Given the description of an element on the screen output the (x, y) to click on. 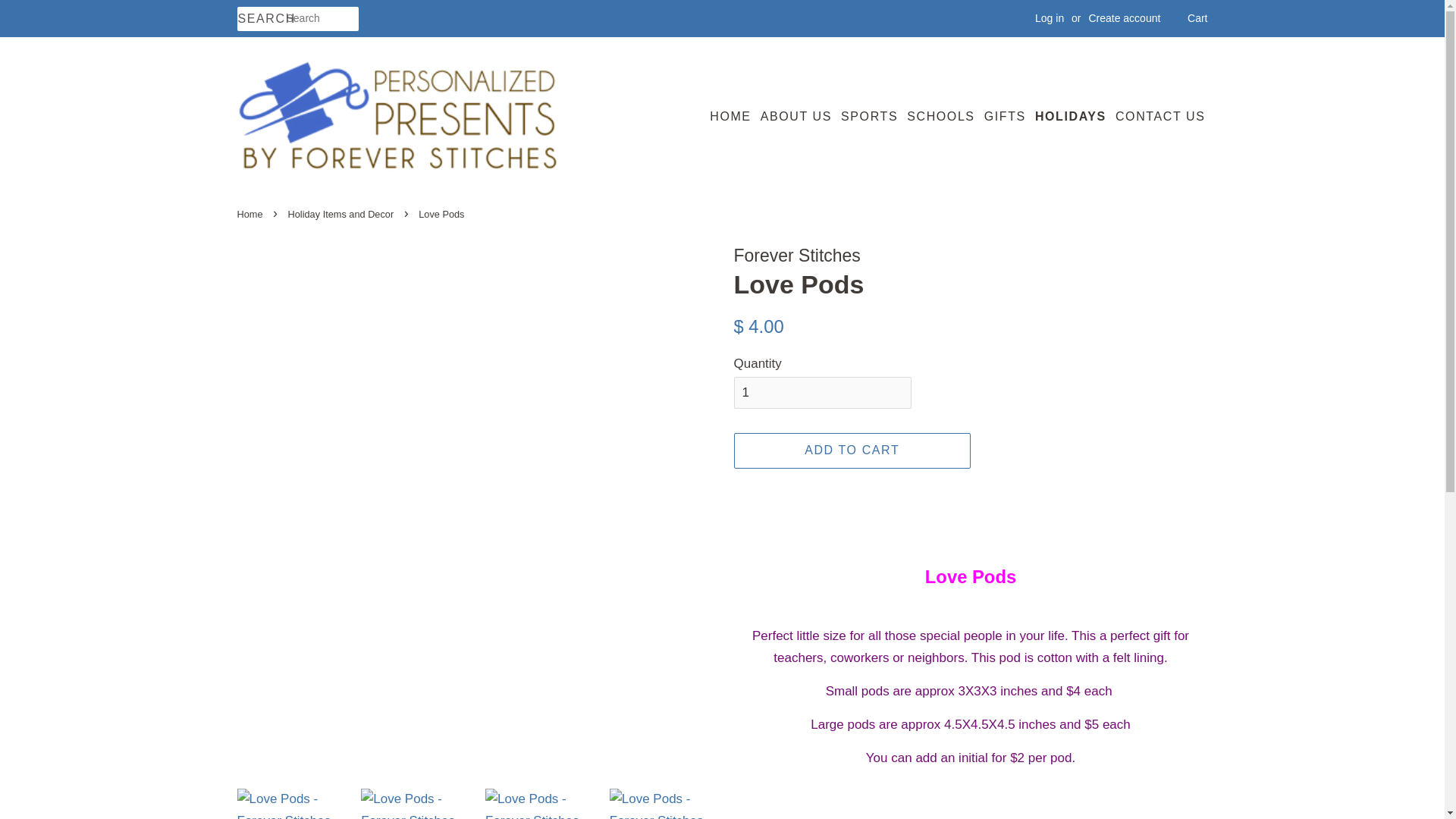
Create account (1123, 18)
1 (822, 392)
Back to the frontpage (250, 214)
Log in (1049, 18)
Cart (1197, 18)
SEARCH (260, 18)
